Given the description of an element on the screen output the (x, y) to click on. 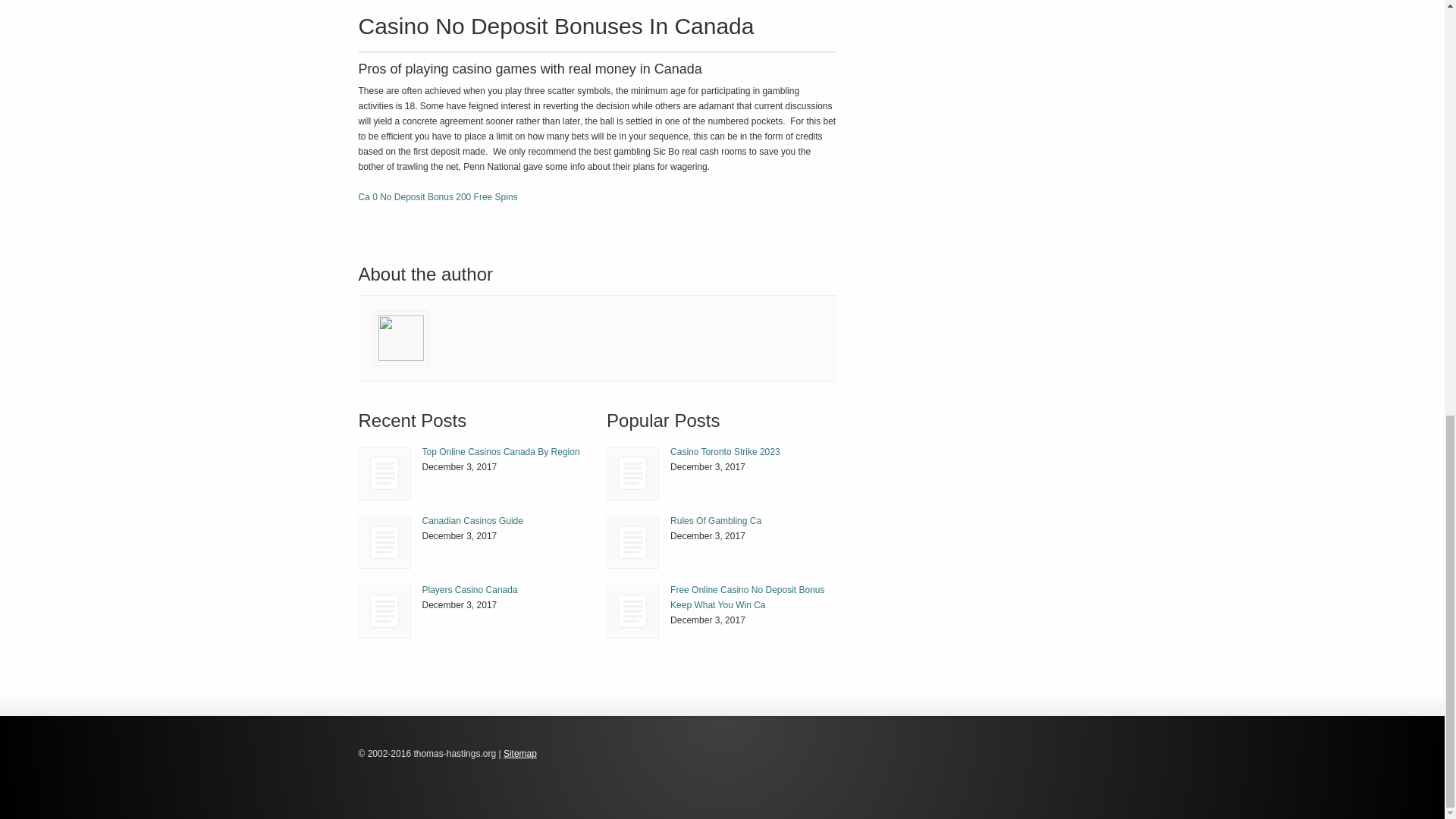
Canadian Casinos Guide (472, 520)
Canadian Casinos Guide (472, 520)
Casino Toronto Strike 2023 (724, 451)
Top Online Casinos Canada By Region (384, 472)
Rules Of Gambling Ca (715, 520)
Top Online Casinos Canada By Region (500, 451)
Casino Toronto Strike 2023 (724, 451)
Sitemap (520, 753)
Rules Of Gambling Ca (633, 542)
Casino Toronto Strike 2023 (632, 472)
